Given the description of an element on the screen output the (x, y) to click on. 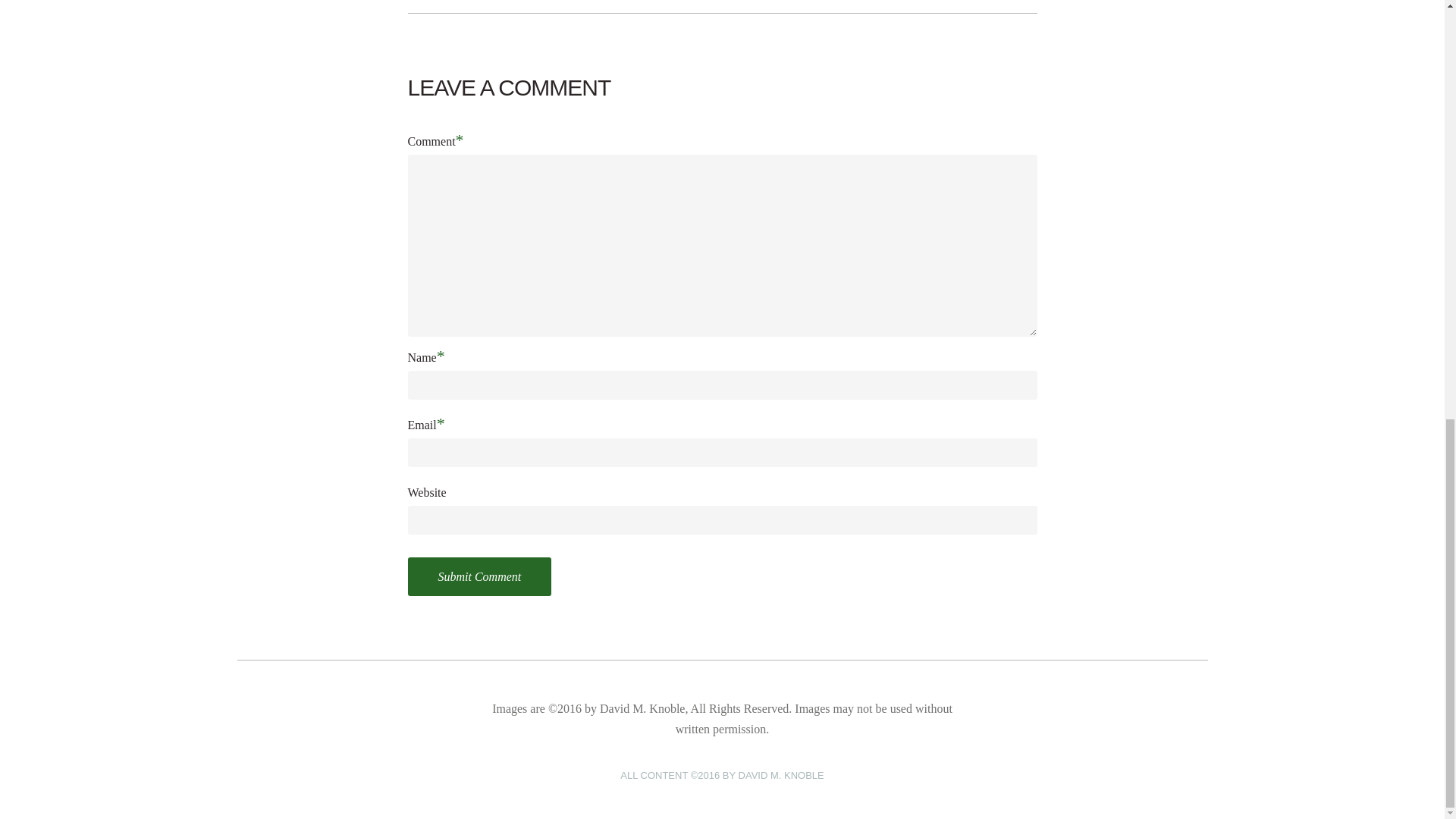
Submit Comment (479, 576)
Submit Comment (479, 576)
